Given the description of an element on the screen output the (x, y) to click on. 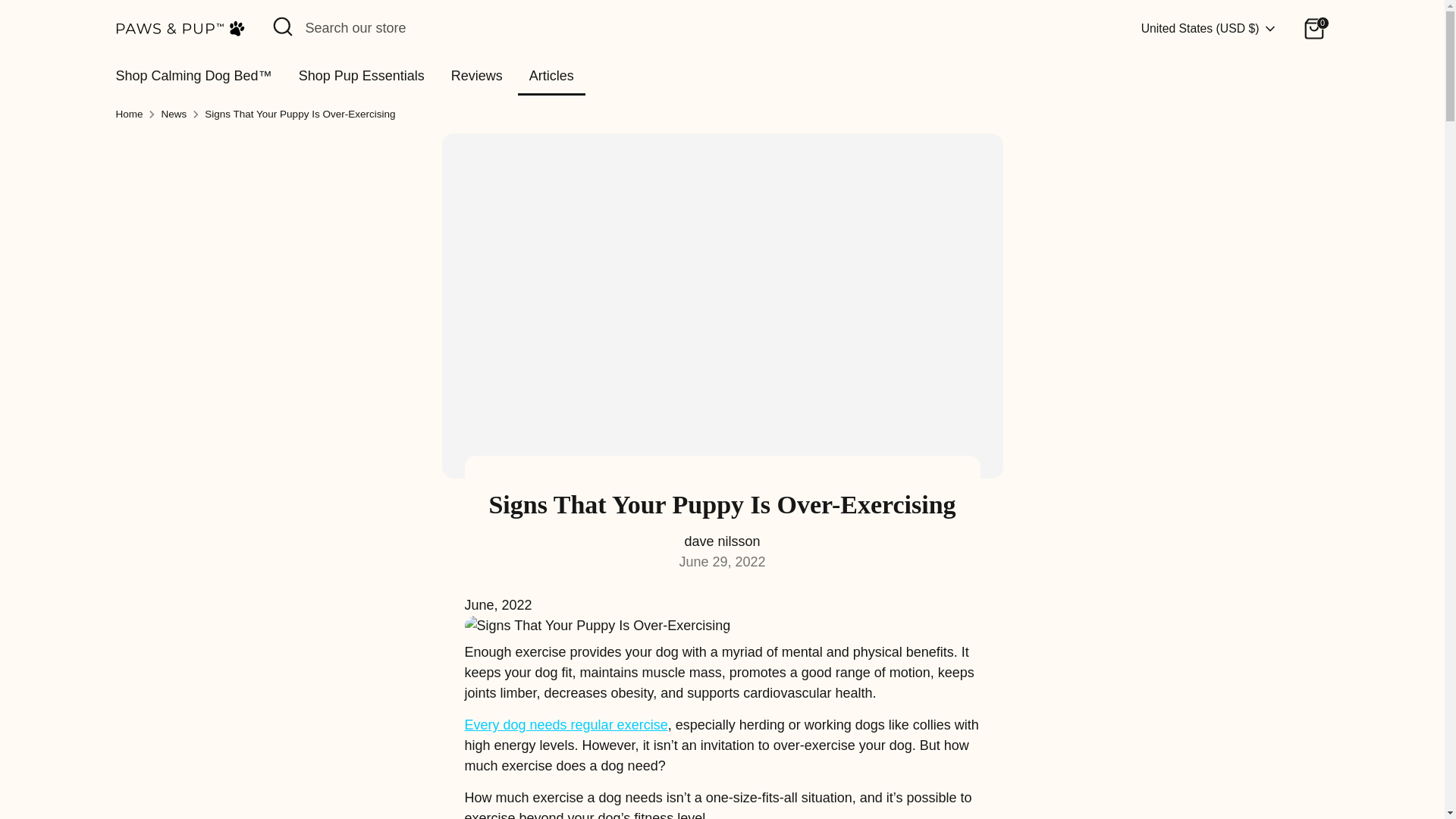
Mastercard (1190, 769)
Discover (1100, 769)
American Express (1008, 769)
Meta Pay (1130, 769)
Google Pay (1160, 769)
Diners Club (1069, 769)
Apple Pay (1039, 769)
PayPal (1221, 769)
